Given the description of an element on the screen output the (x, y) to click on. 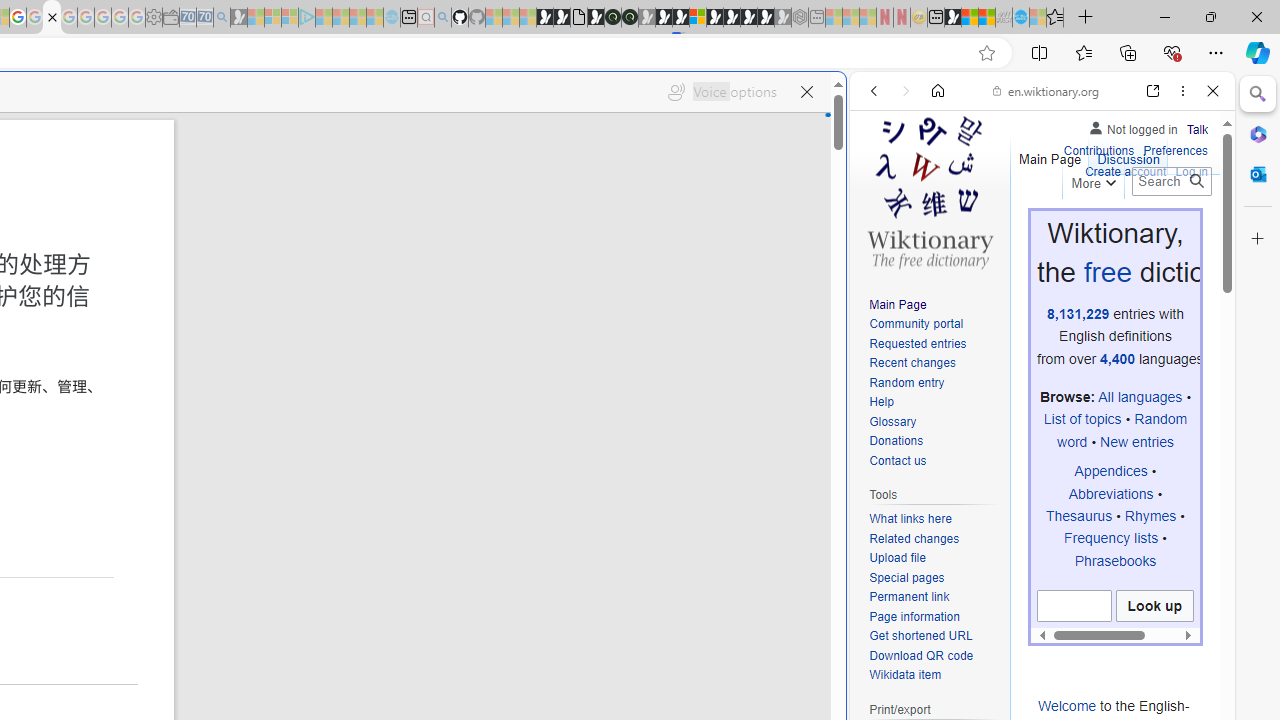
Play Cave FRVR in your browser | Games from Microsoft Start (343, 426)
Home | Sky Blue Bikes - Sky Blue Bikes - Sleeping (392, 17)
Get shortened URL (920, 636)
en.wiktionary.org (1046, 90)
Special pages (906, 577)
MSN (952, 17)
AutomationID: bodySearchInput0.099163710994 (1074, 605)
